Given the description of an element on the screen output the (x, y) to click on. 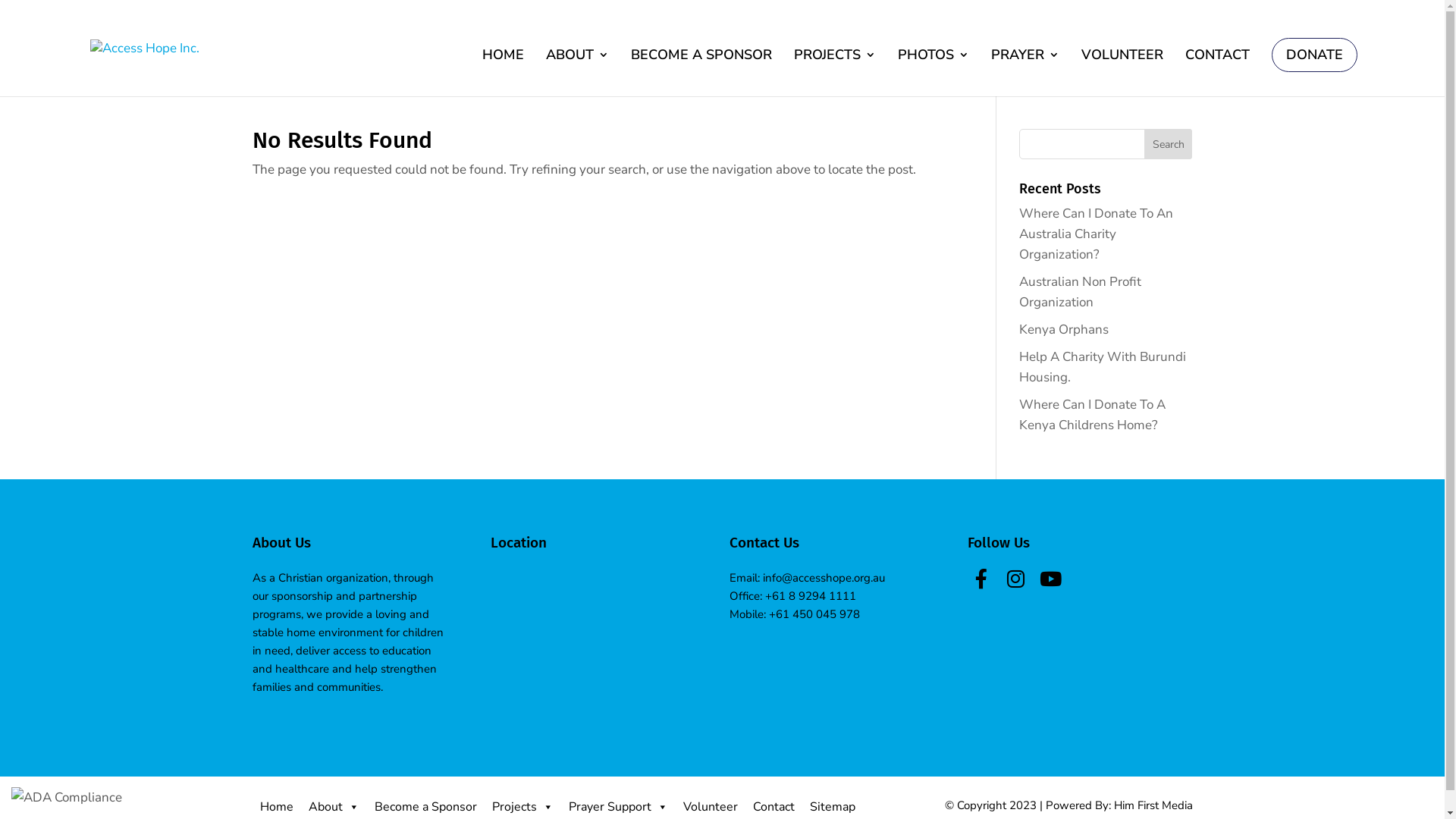
ABOUT Element type: text (577, 65)
DONATE Element type: text (1314, 54)
Where Can I Donate To An Australia Charity Organization? Element type: text (1096, 233)
Follow Us Element type: hover (1015, 579)
Australian Non Profit Organization Element type: text (1080, 291)
Kenya Orphans Element type: text (1063, 329)
Help A Charity With Burundi Housing. Element type: text (1102, 366)
info@accesshope.org.au Element type: text (823, 577)
PROJECTS Element type: text (834, 65)
PRAYER Element type: text (1025, 65)
Where Can I Donate To A Kenya Childrens Home? Element type: text (1092, 414)
Follow Us Element type: hover (1050, 579)
Follow Us Element type: hover (980, 579)
CONTACT Element type: text (1217, 65)
Skip to content Element type: text (0, 0)
VOLUNTEER Element type: text (1122, 65)
HOME Element type: text (503, 65)
+61 8 9294 1111 Element type: text (810, 595)
Him First Media Element type: text (1152, 804)
PHOTOS Element type: text (933, 65)
+61 450 045 978 Element type: text (813, 613)
BECOME A SPONSOR Element type: text (700, 65)
Search Element type: text (1168, 143)
